Given the description of an element on the screen output the (x, y) to click on. 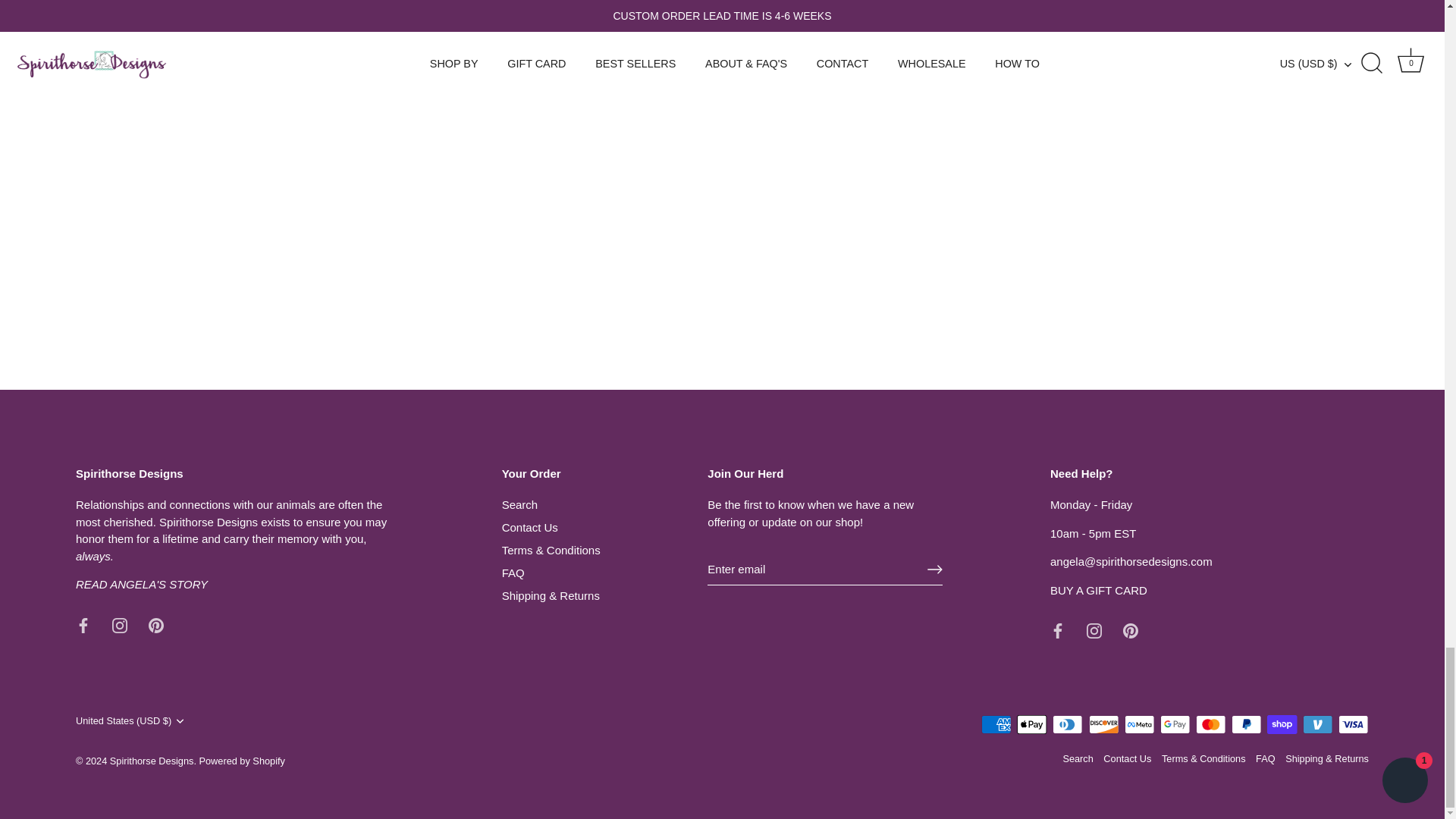
Gifts (1098, 590)
Discover (1104, 723)
Pinterest (155, 625)
Apple Pay (1031, 723)
Meta Pay (1139, 723)
Diners Club (1067, 723)
Instagram (120, 625)
Pinterest (1130, 630)
Instagram (1094, 630)
About Us (141, 584)
American Express (996, 723)
Right arrow long (934, 569)
